Given the description of an element on the screen output the (x, y) to click on. 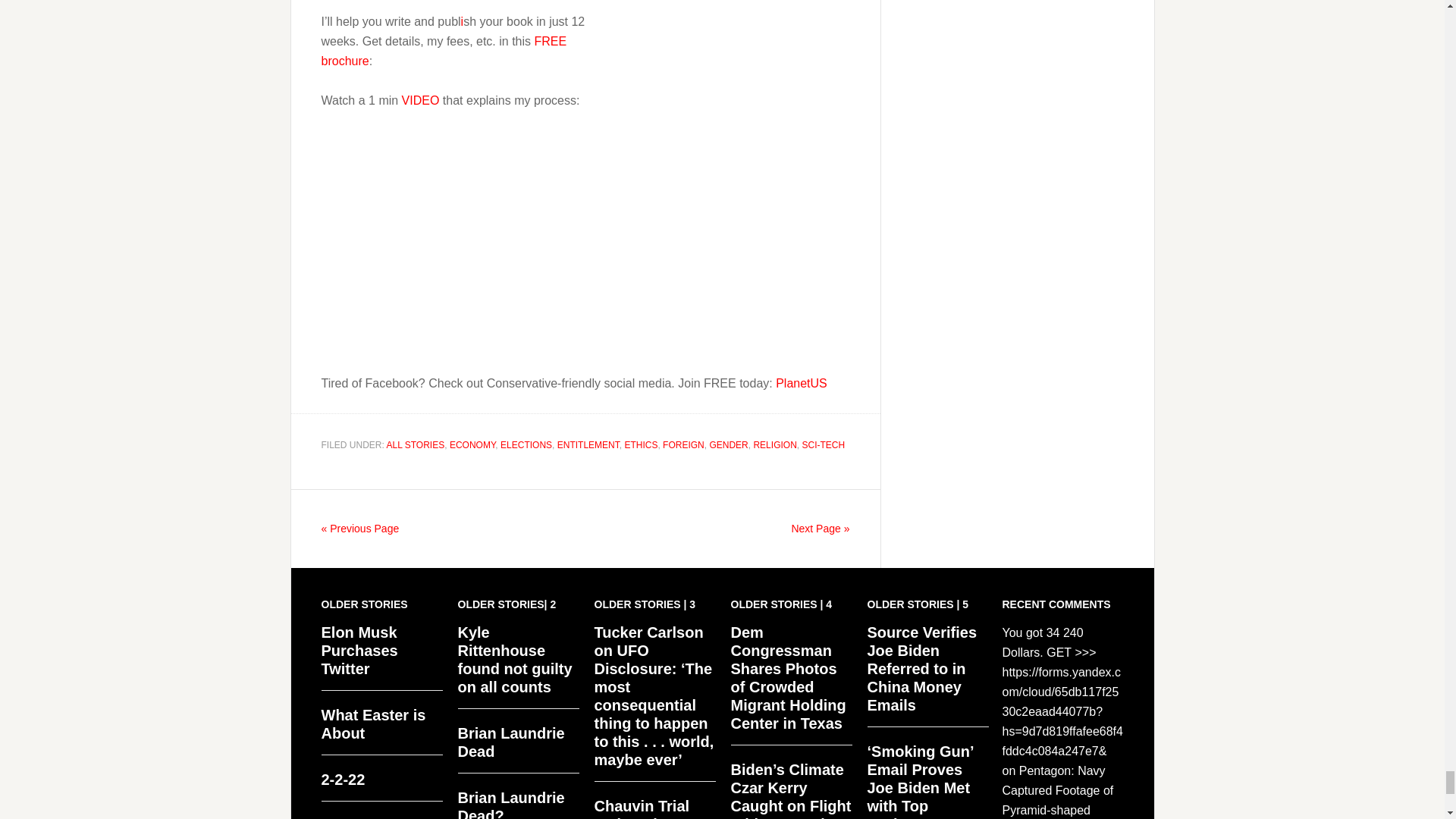
Your Book Makes You the Expert (510, 260)
